Given the description of an element on the screen output the (x, y) to click on. 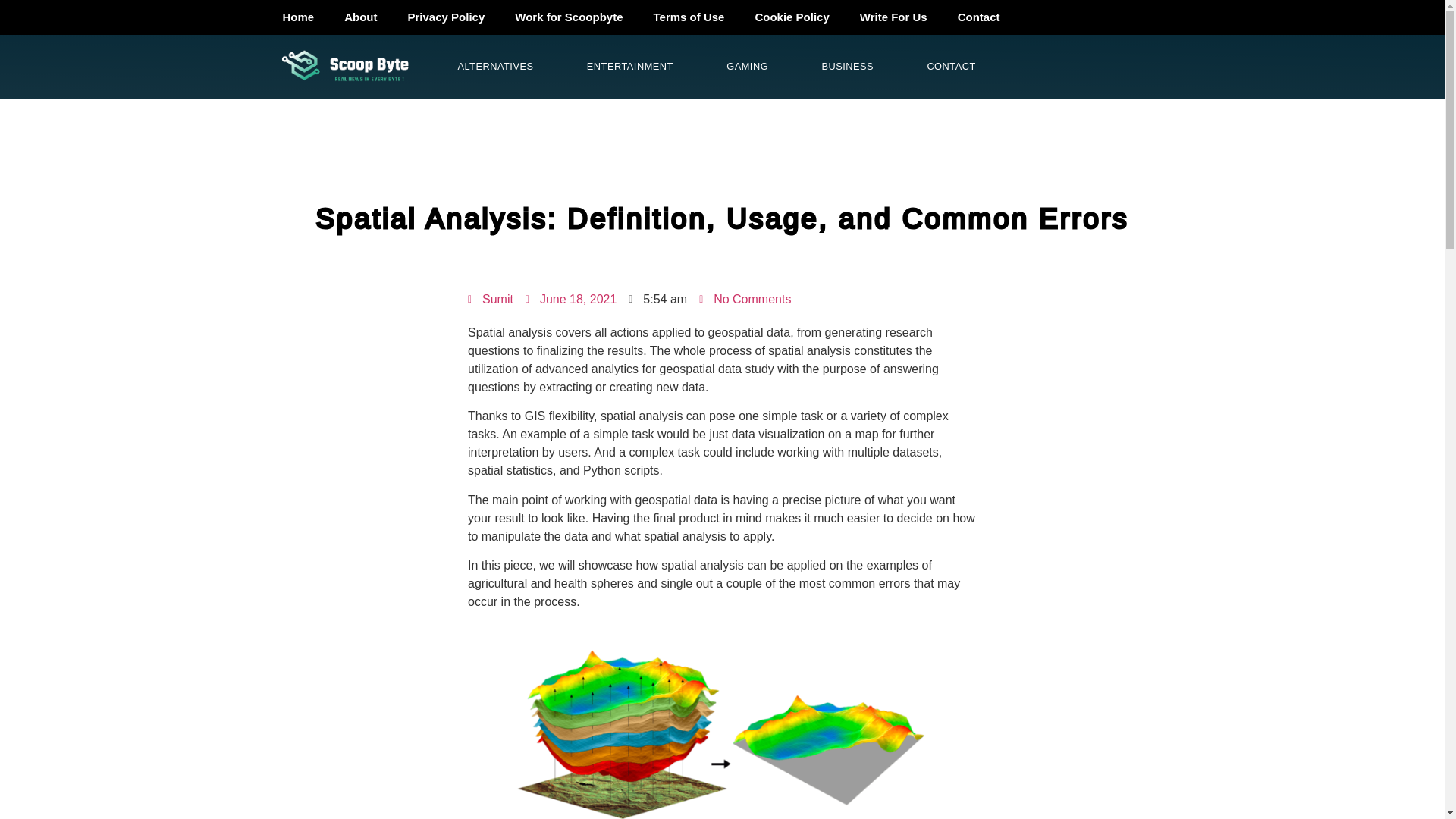
BUSINESS (846, 66)
About (360, 17)
Contact (978, 17)
Terms of Use (689, 17)
June 18, 2021 (570, 299)
Cookie Policy (791, 17)
Work for Scoopbyte (568, 17)
No Comments (744, 299)
GAMING (747, 66)
Privacy Policy (446, 17)
Home (297, 17)
ALTERNATIVES (494, 66)
Sumit (490, 299)
ENTERTAINMENT (630, 66)
CONTACT (951, 66)
